Given the description of an element on the screen output the (x, y) to click on. 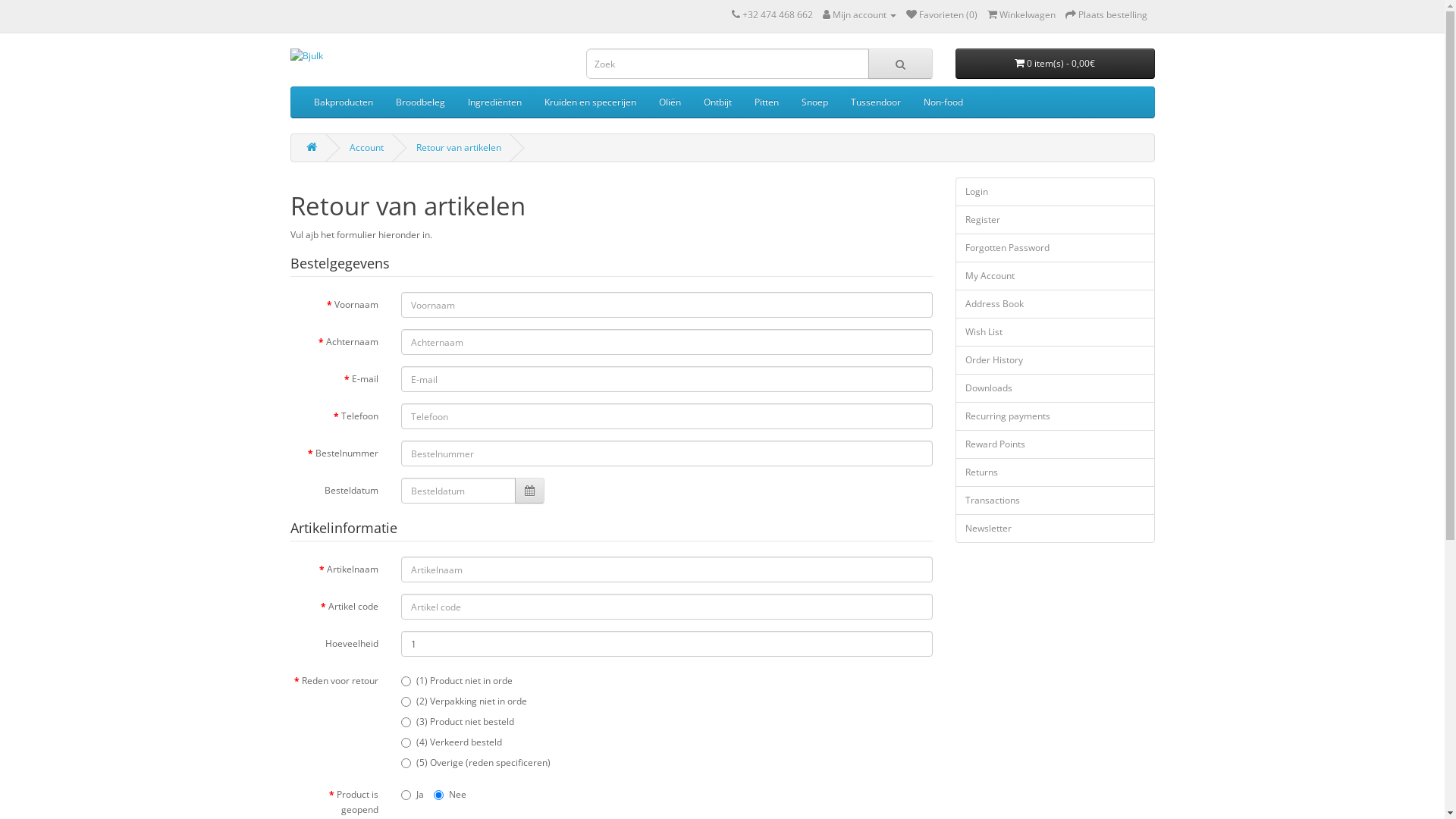
Pitten Element type: text (766, 102)
Winkelwagen Element type: text (1021, 14)
Ontbijt Element type: text (716, 102)
My Account Element type: text (1054, 275)
Order History Element type: text (1054, 359)
Login Element type: text (1054, 191)
Account Element type: text (365, 147)
Returns Element type: text (1054, 472)
Reward Points Element type: text (1054, 443)
Non-food Element type: text (942, 102)
Bjulk Element type: hover (425, 55)
Newsletter Element type: text (1054, 528)
Bakproducten Element type: text (342, 102)
Snoep Element type: text (814, 102)
Downloads Element type: text (1054, 387)
Favorieten (0) Element type: text (940, 14)
Wish List Element type: text (1054, 331)
Transactions Element type: text (1054, 500)
Address Book Element type: text (1054, 303)
Mijn account Element type: text (858, 14)
Forgotten Password Element type: text (1054, 247)
Tussendoor Element type: text (874, 102)
Register Element type: text (1054, 219)
Retour van artikelen Element type: text (457, 147)
Recurring payments Element type: text (1054, 415)
Kruiden en specerijen Element type: text (589, 102)
Broodbeleg Element type: text (419, 102)
Plaats bestelling Element type: text (1105, 14)
